Given the description of an element on the screen output the (x, y) to click on. 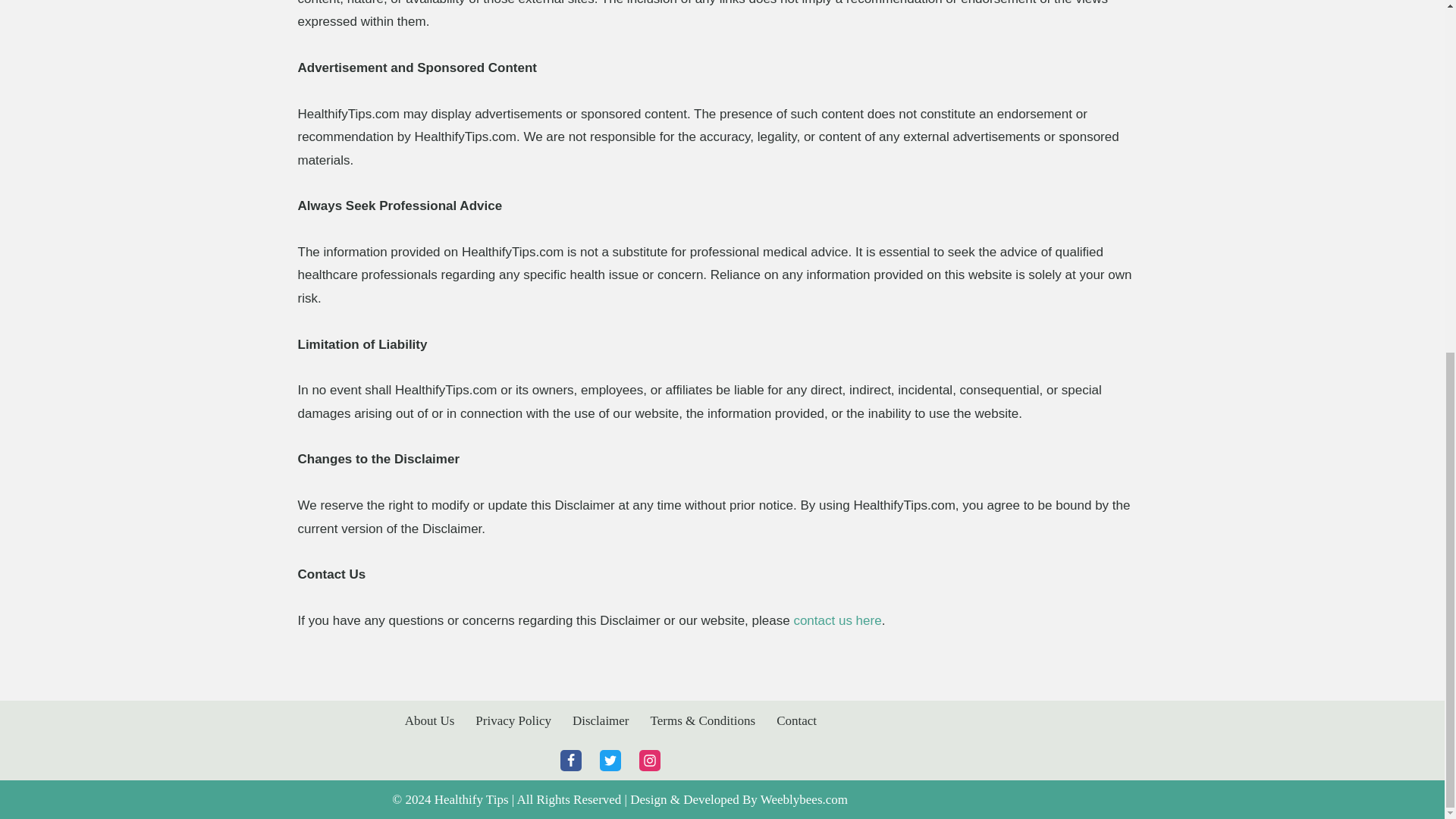
Facebook (570, 760)
Instagram (650, 760)
Twitter (610, 760)
